Given the description of an element on the screen output the (x, y) to click on. 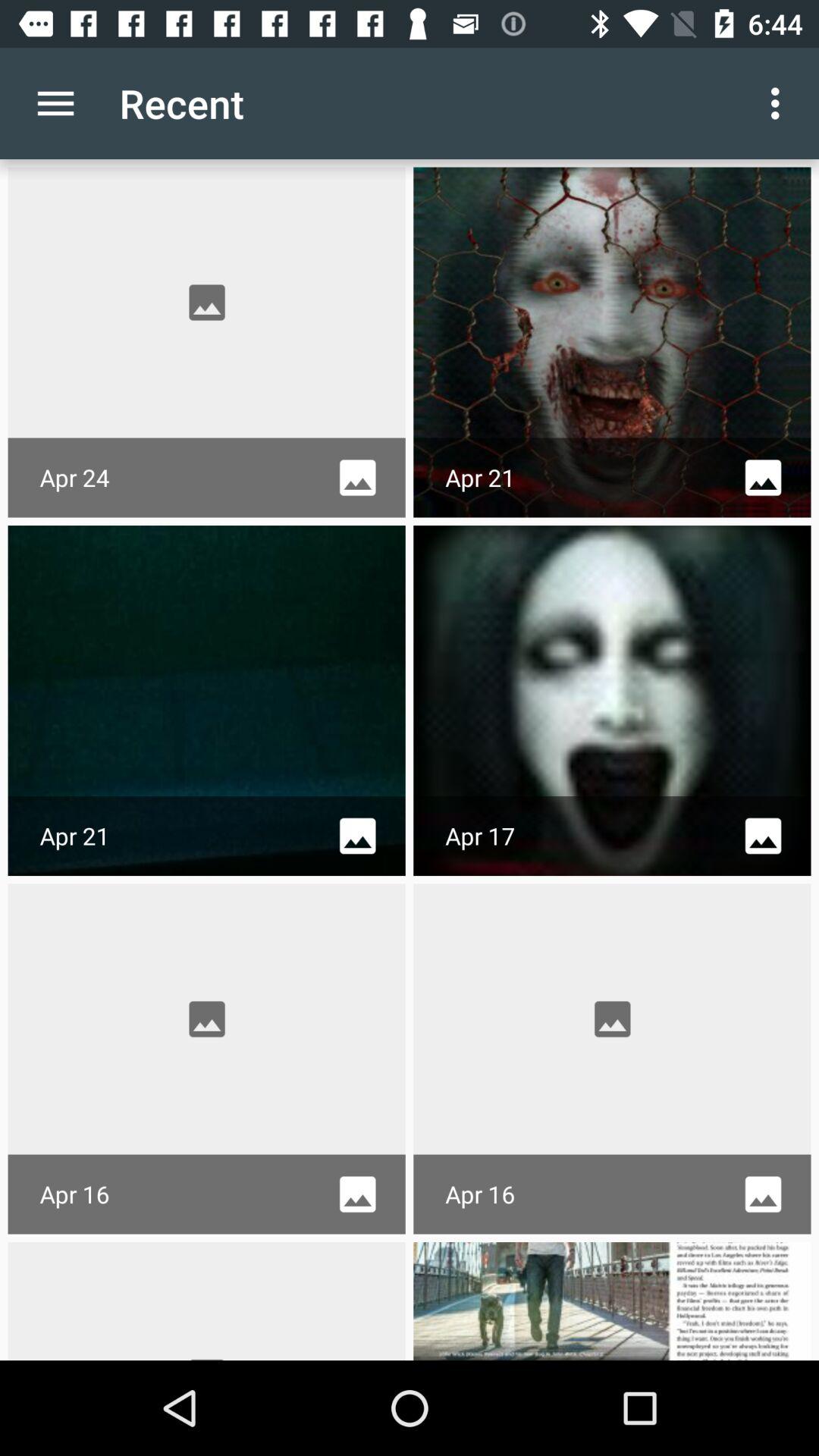
select item to the left of recent (55, 103)
